Given the description of an element on the screen output the (x, y) to click on. 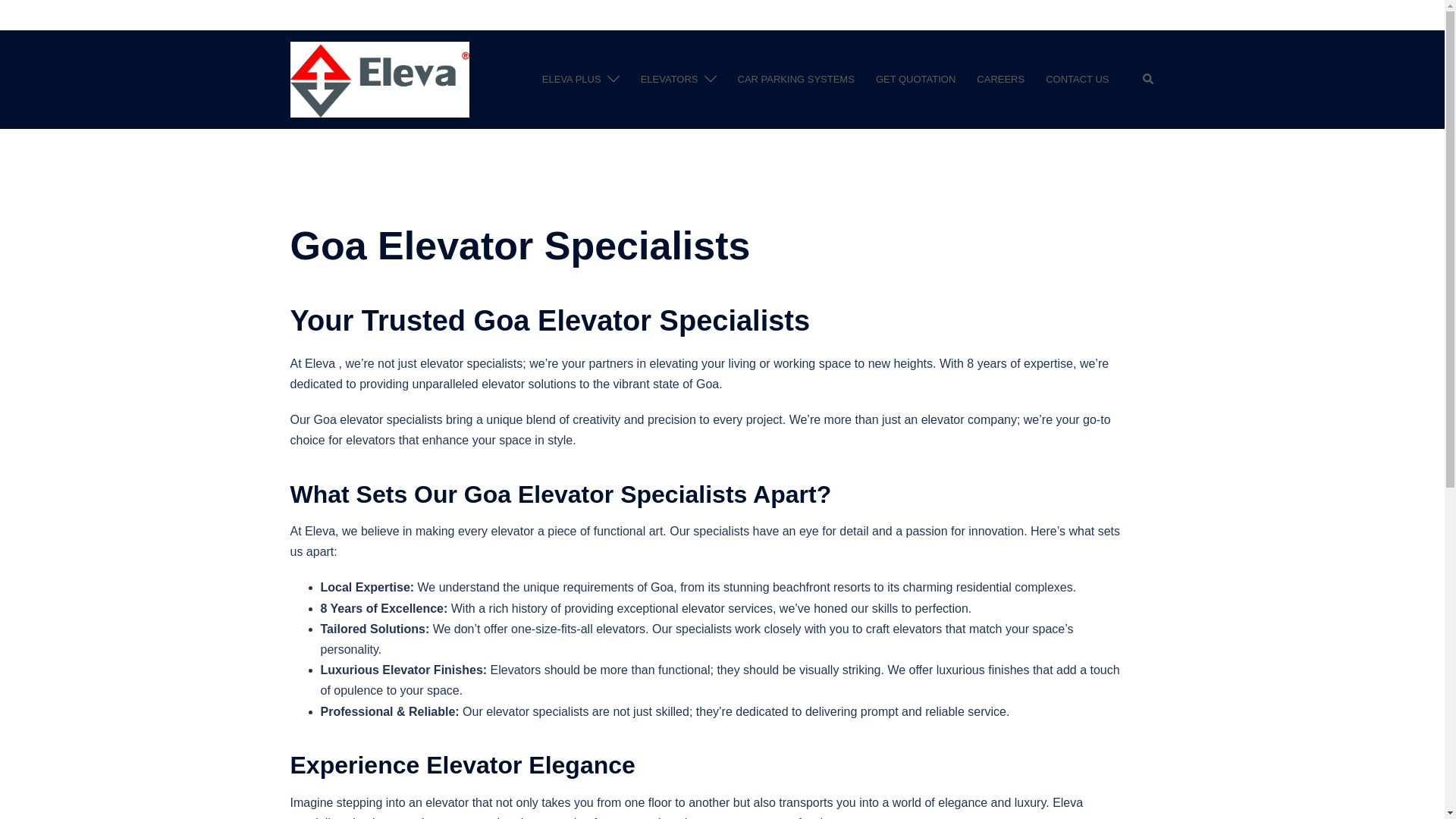
ELEVA PLUS (571, 79)
GET QUOTATION (915, 79)
CONTACT US (1076, 79)
CAR PARKING SYSTEMS (796, 79)
CAREERS (1000, 79)
ELEVATORS (669, 79)
Eleva (378, 78)
Search (1147, 79)
